Given the description of an element on the screen output the (x, y) to click on. 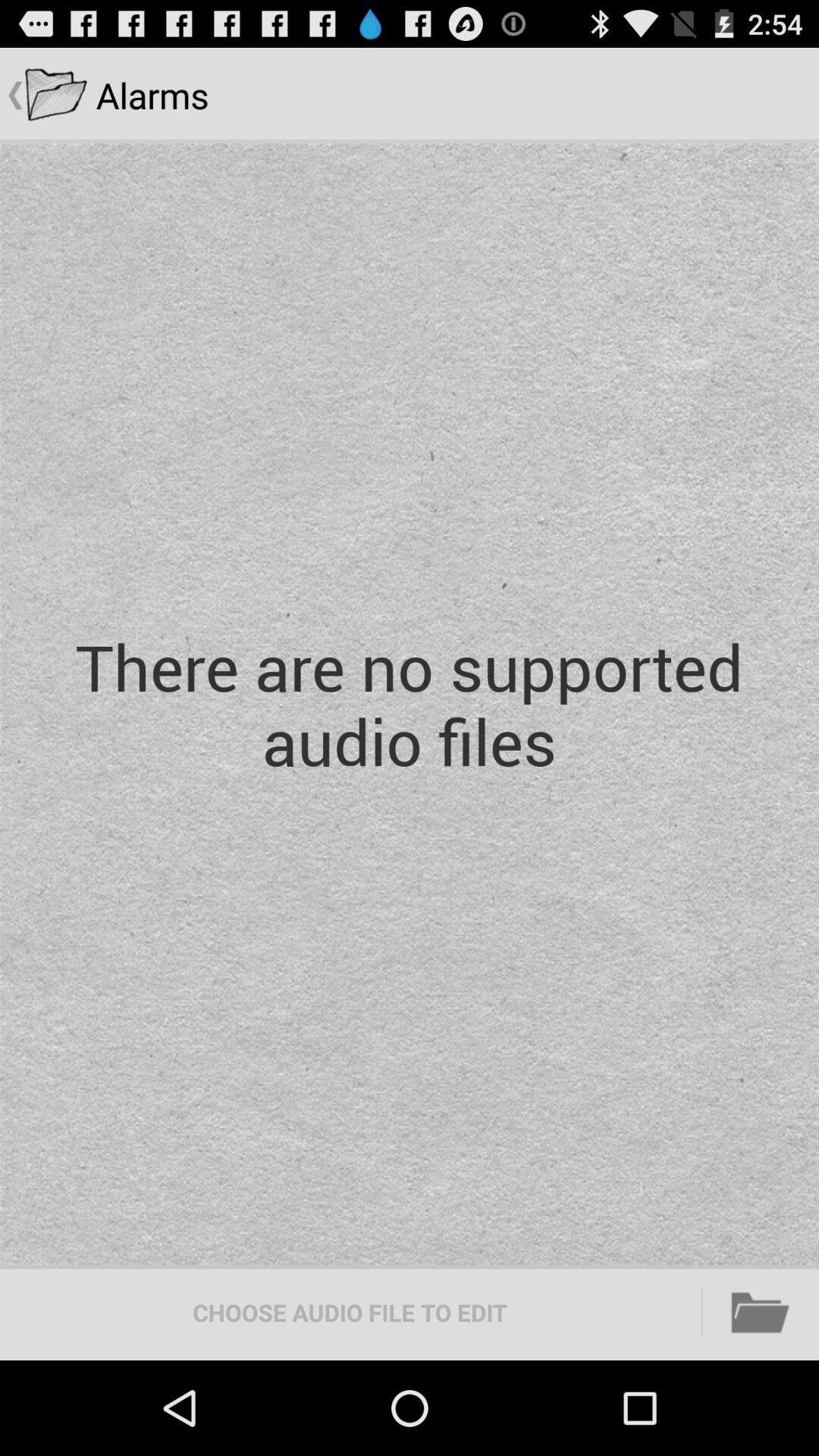
flip to the choose audio file icon (349, 1312)
